Given the description of an element on the screen output the (x, y) to click on. 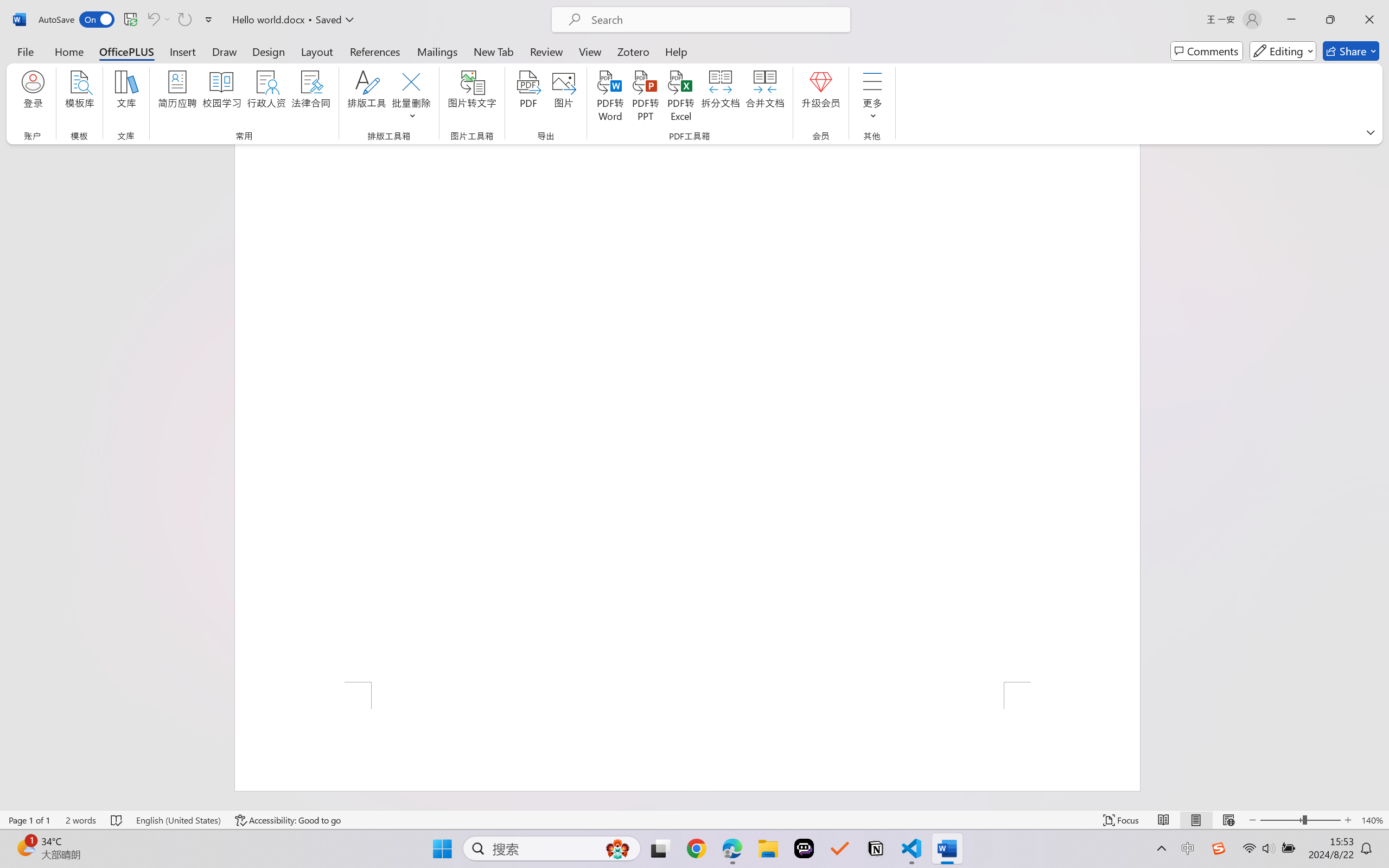
Restore Down (1330, 19)
Quick Access Toolbar (127, 19)
Mailings (437, 51)
Mode (1283, 50)
Draw (224, 51)
Customize Quick Access Toolbar (208, 19)
Class: MsoCommandBar (694, 819)
